Given the description of an element on the screen output the (x, y) to click on. 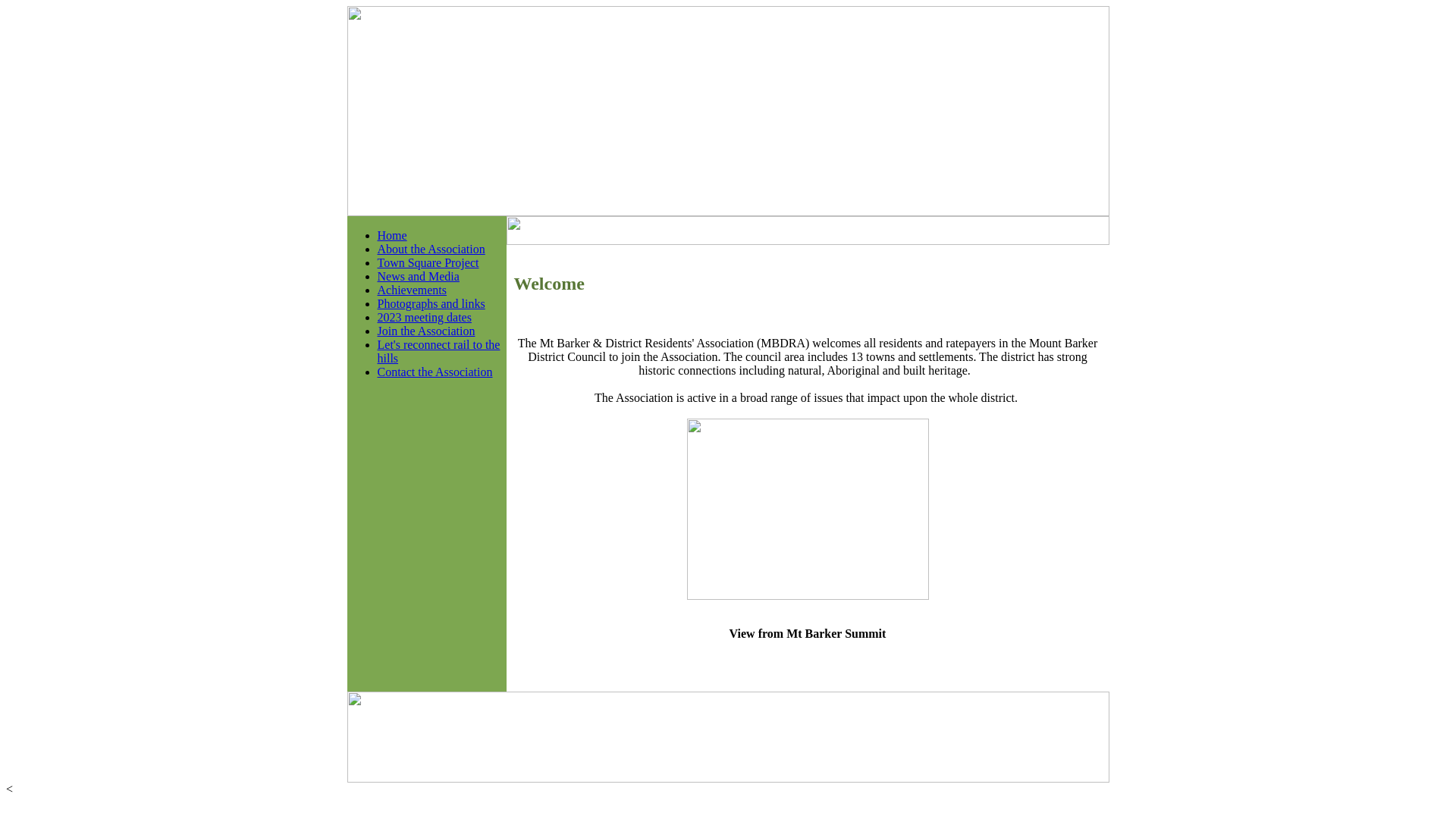
Let's reconnect rail to the hills Element type: text (438, 351)
News and Media Element type: text (418, 275)
Photographs and links Element type: text (431, 303)
2023 meeting dates Element type: text (424, 316)
Join the Association Element type: text (426, 330)
Contact the Association Element type: text (434, 371)
Home Element type: text (392, 235)
About the Association Element type: text (431, 248)
Town Square Project Element type: text (428, 262)
Achievements Element type: text (412, 289)
